Given the description of an element on the screen output the (x, y) to click on. 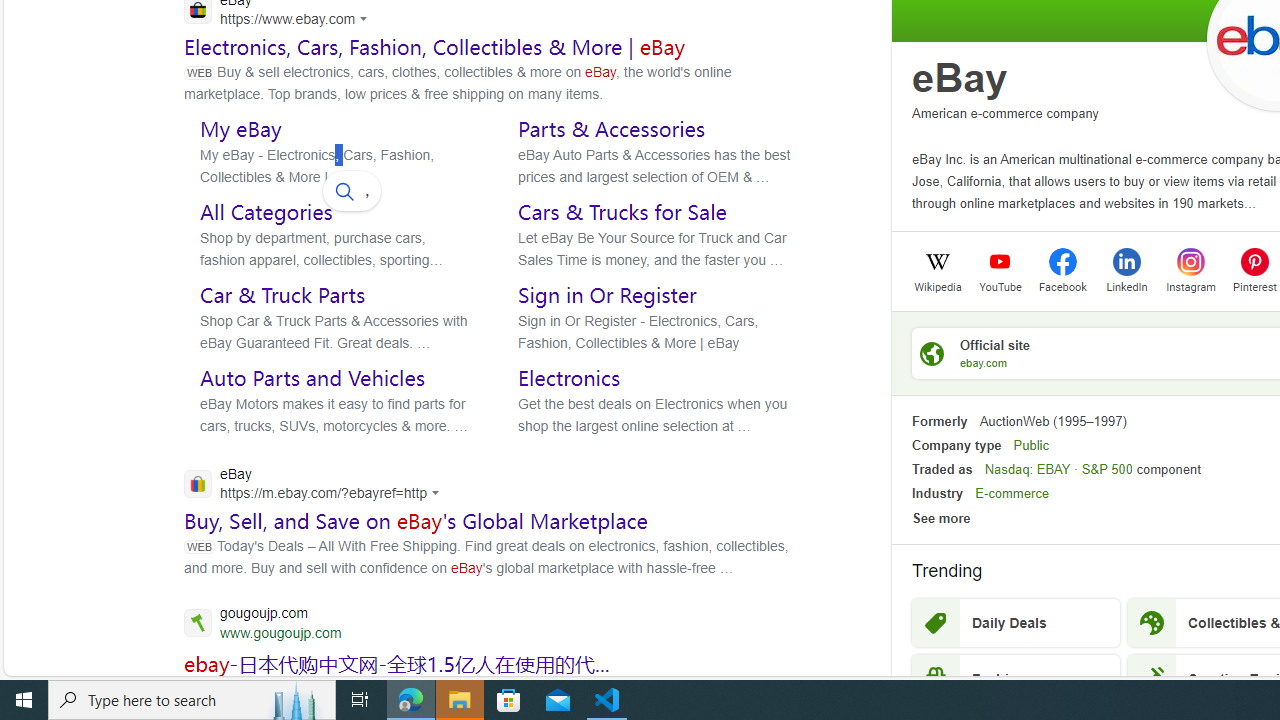
Nasdaq (1007, 469)
